Given the description of an element on the screen output the (x, y) to click on. 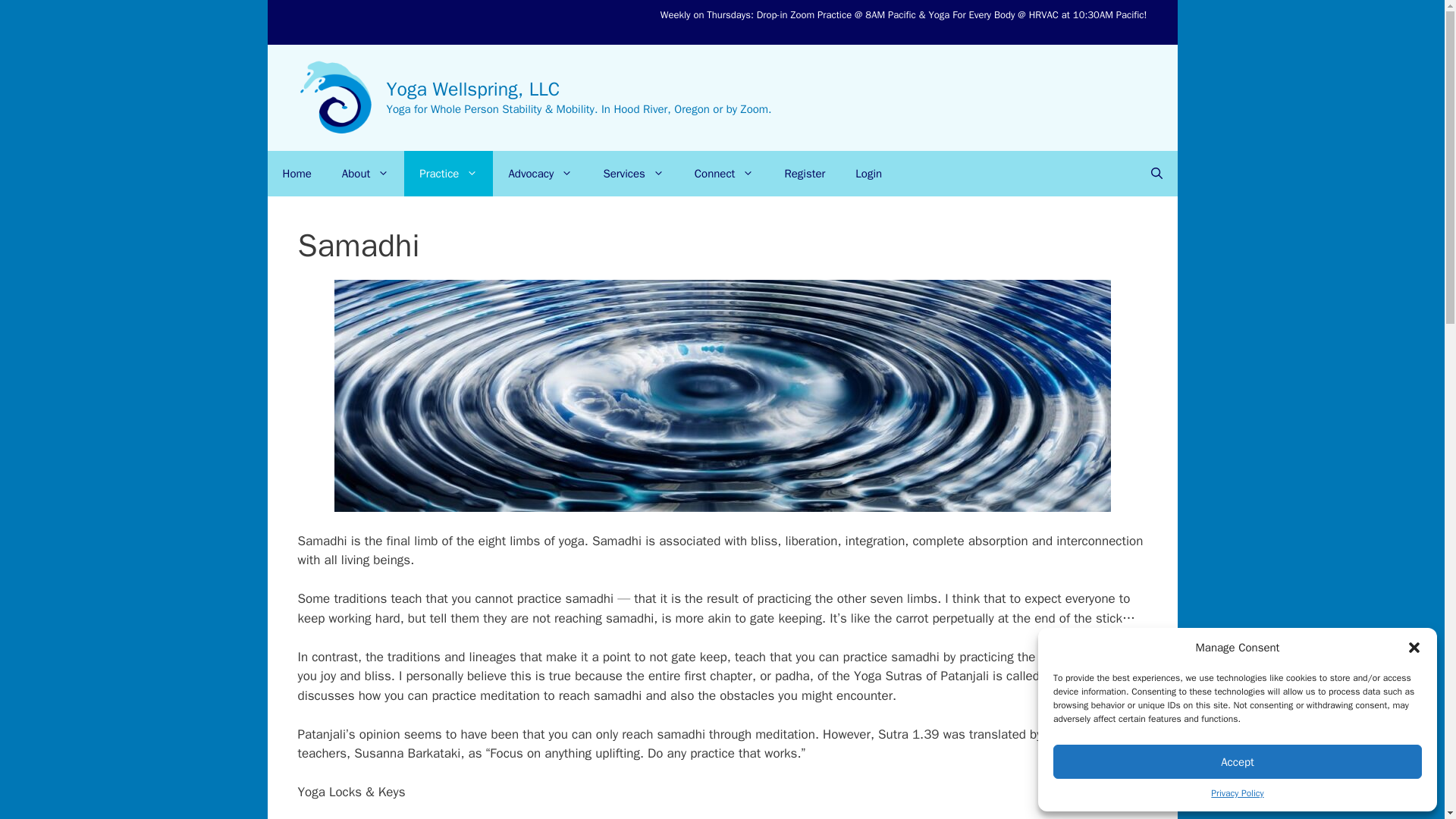
Accept (1237, 761)
Practice (448, 173)
Yoga Wellspring, LLC (473, 88)
Privacy Policy (1237, 793)
Home (296, 173)
About (365, 173)
